Given the description of an element on the screen output the (x, y) to click on. 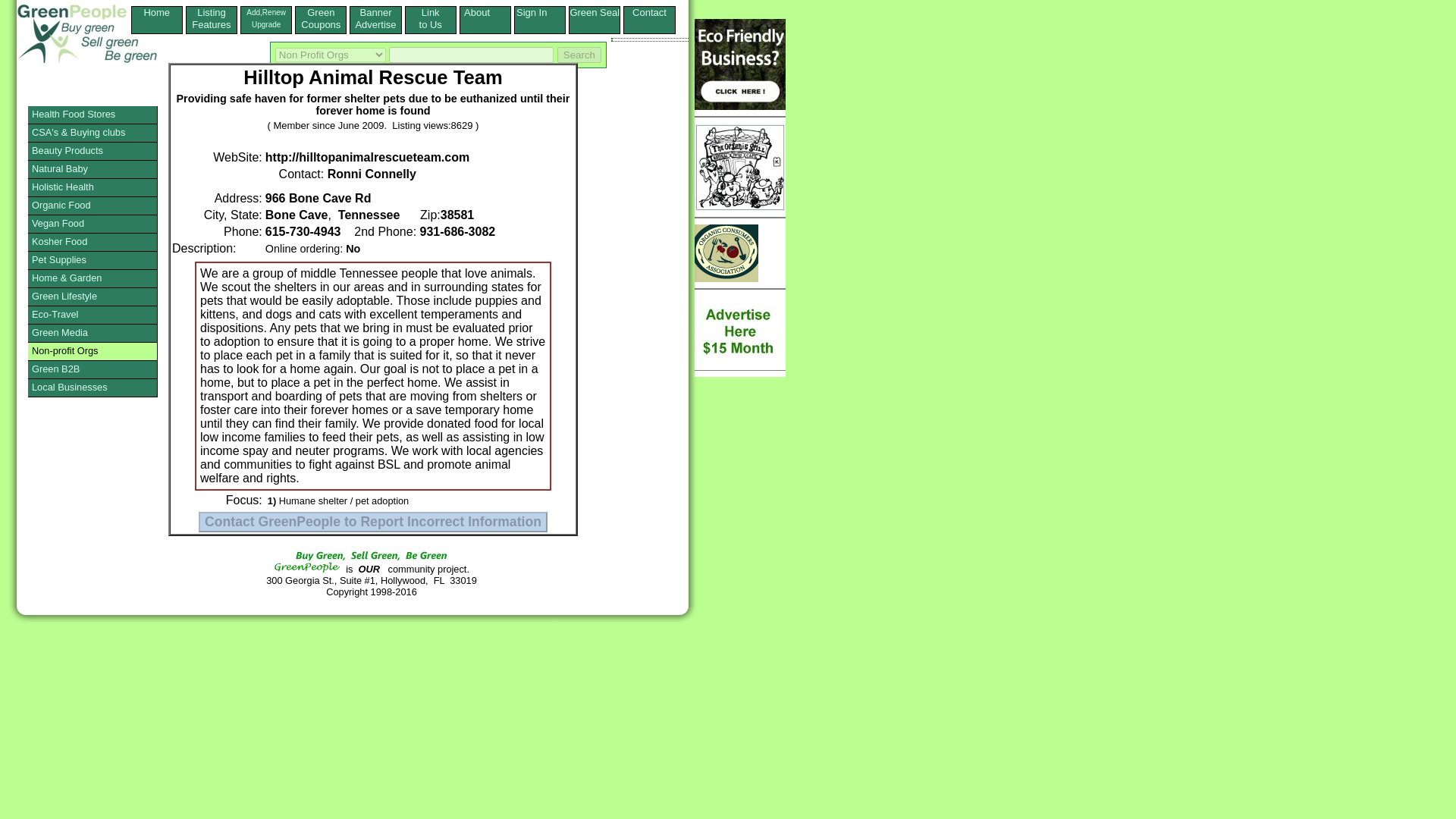
Green Lifestyle (92, 297)
Pet Supplies (92, 260)
Contact GreenPeople to Report Incorrect Information (210, 18)
Green Coupons (372, 521)
Non-profit Orgs (266, 18)
Green Seal (320, 18)
Local Green Businesses (92, 352)
Search (594, 12)
